Given the description of an element on the screen output the (x, y) to click on. 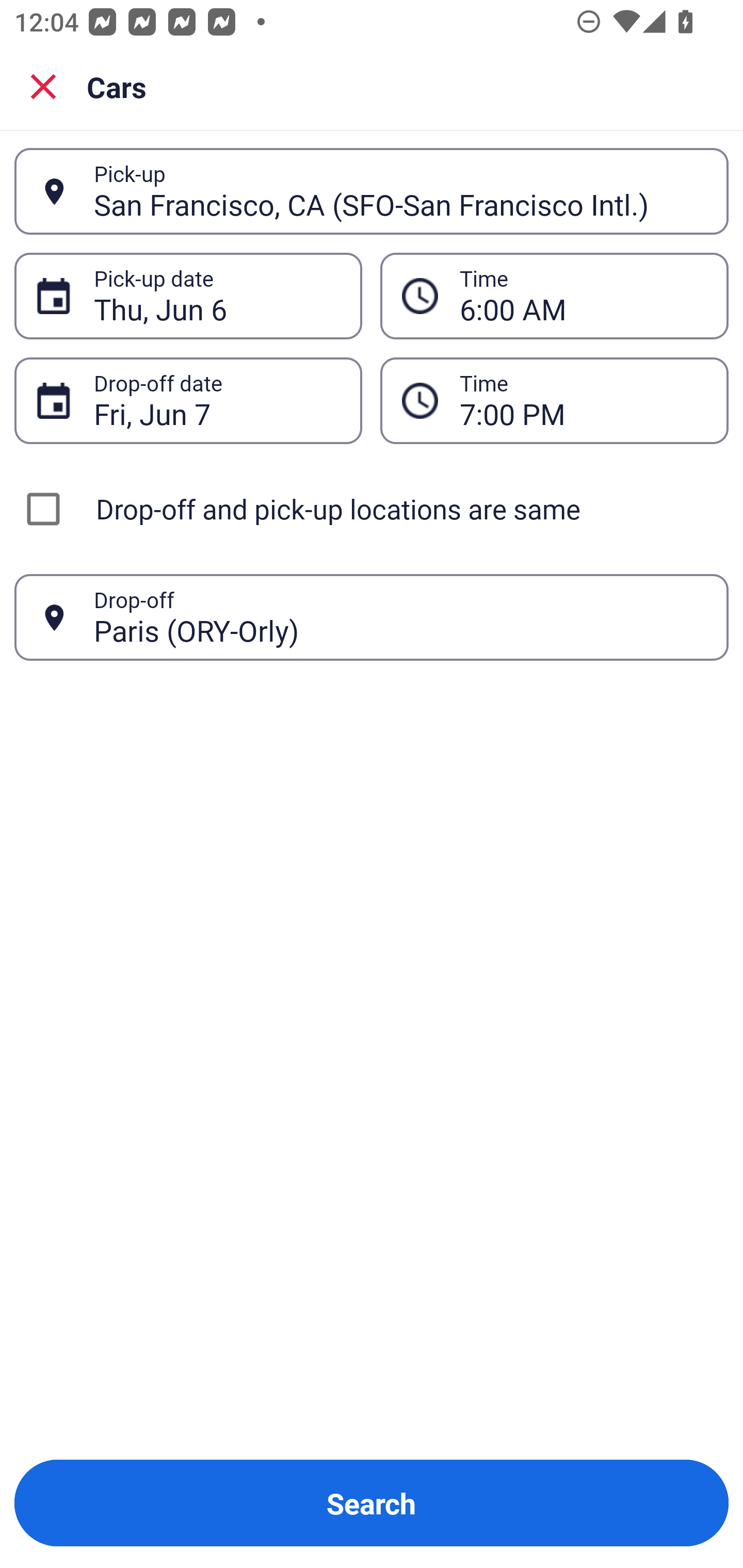
Close search screen (43, 86)
San Francisco, CA (SFO-San Francisco Intl.) (399, 191)
Thu, Jun 6 Pick-up date (188, 295)
6:00 AM (554, 295)
Thu, Jun 6 (216, 296)
6:00 AM (582, 296)
Fri, Jun 7 Drop-off date (188, 400)
7:00 PM (554, 400)
Fri, Jun 7 (216, 400)
7:00 PM (582, 400)
Drop-off and pick-up locations are same (371, 508)
Paris (ORY-Orly) Drop-off (371, 616)
Paris (ORY-Orly) (399, 616)
Search Button Search (371, 1502)
